Given the description of an element on the screen output the (x, y) to click on. 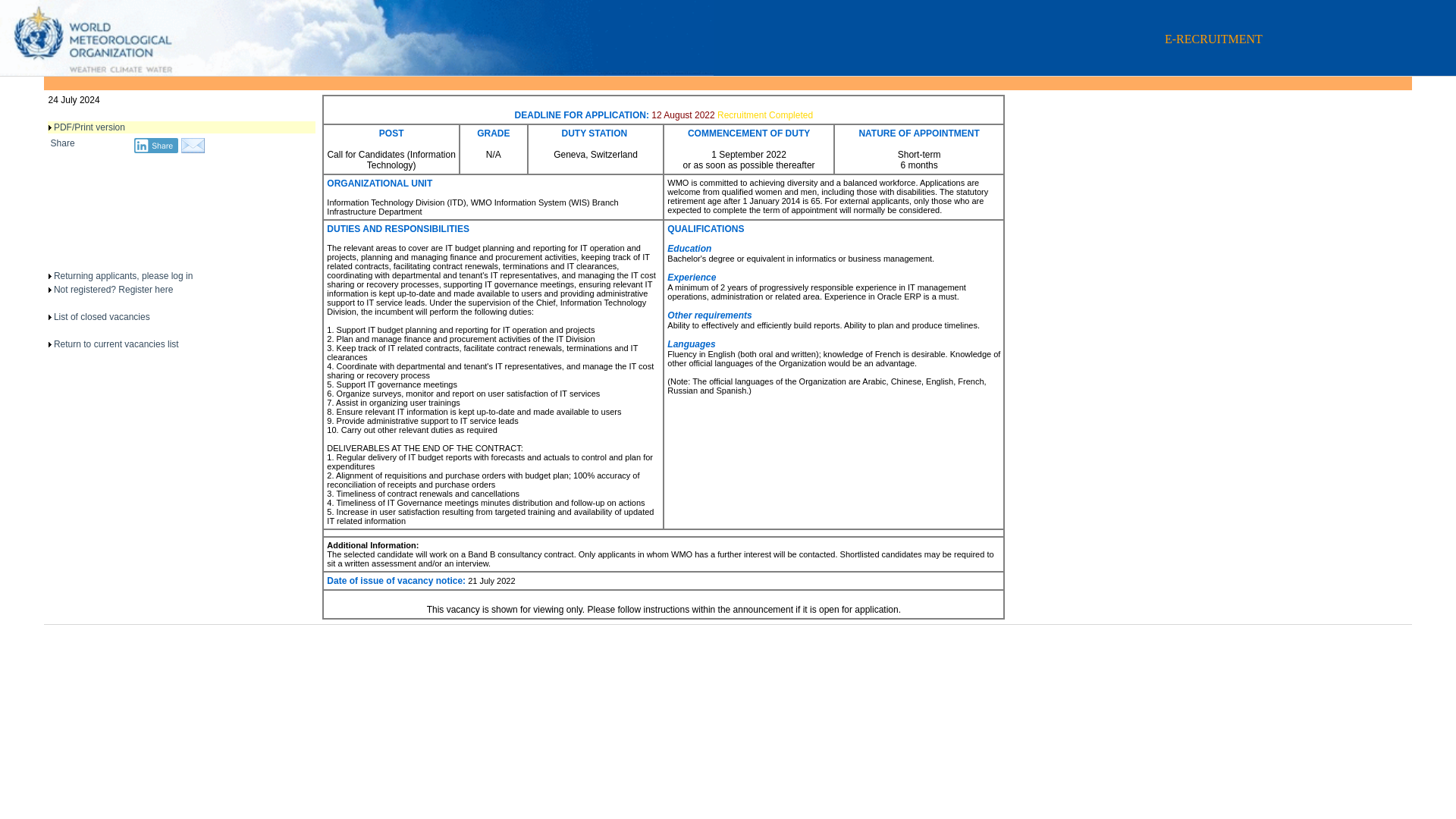
Return to current vacancies list (116, 344)
Twitter Tweet Button (104, 194)
List of closed vacancies (101, 317)
Share (156, 145)
Returning applicants, please log in (122, 276)
Not registered? Register here (113, 289)
Share (62, 143)
E-RECRUITMENT (356, 72)
Share by Email (192, 149)
